Given the description of an element on the screen output the (x, y) to click on. 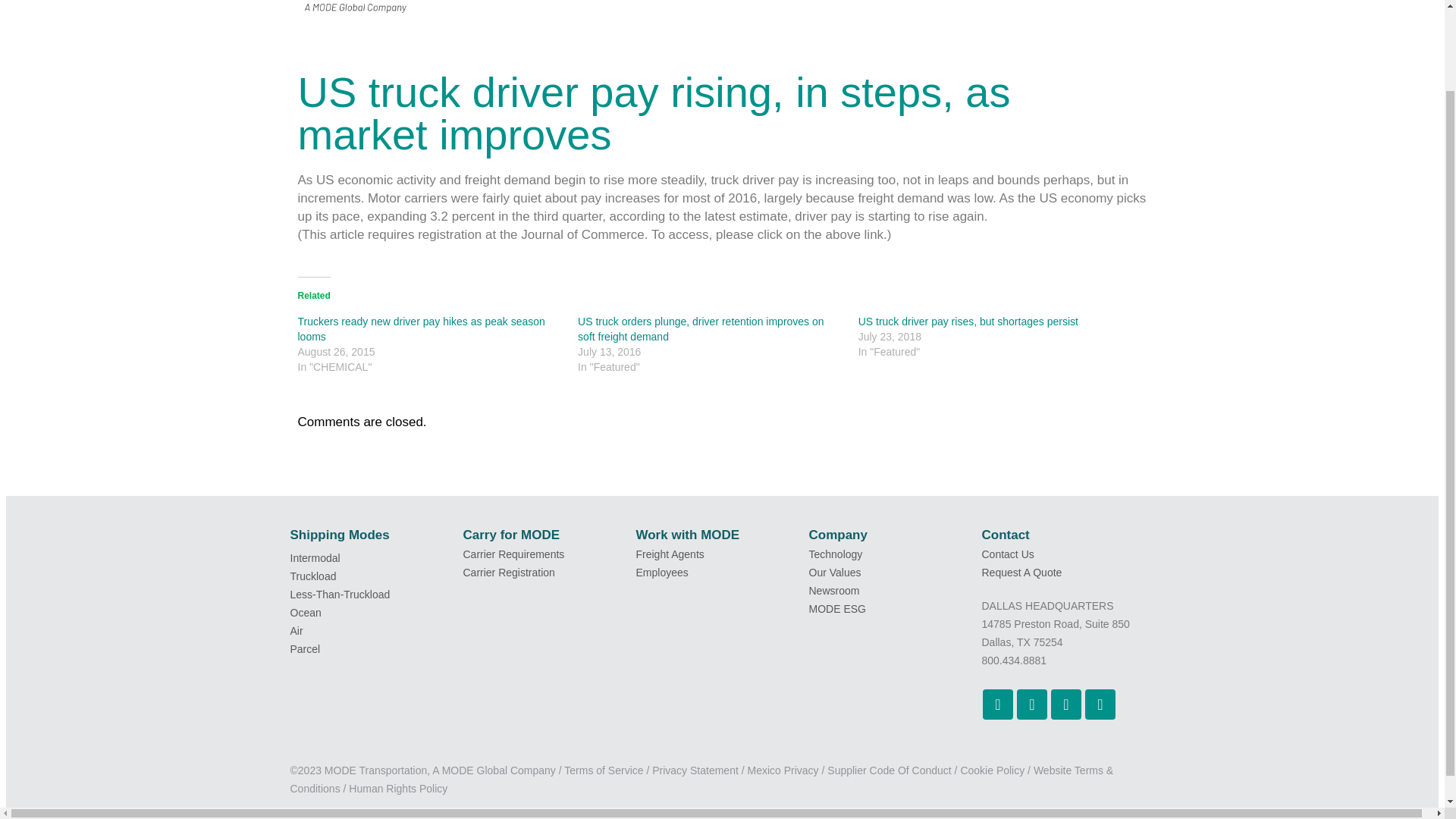
COMPANY (544, 12)
US truck driver pay rises, but shortages persist (814, 12)
CONTACT (948, 6)
Truckers ready new driver pay hikes as peak season looms (968, 320)
